Given the description of an element on the screen output the (x, y) to click on. 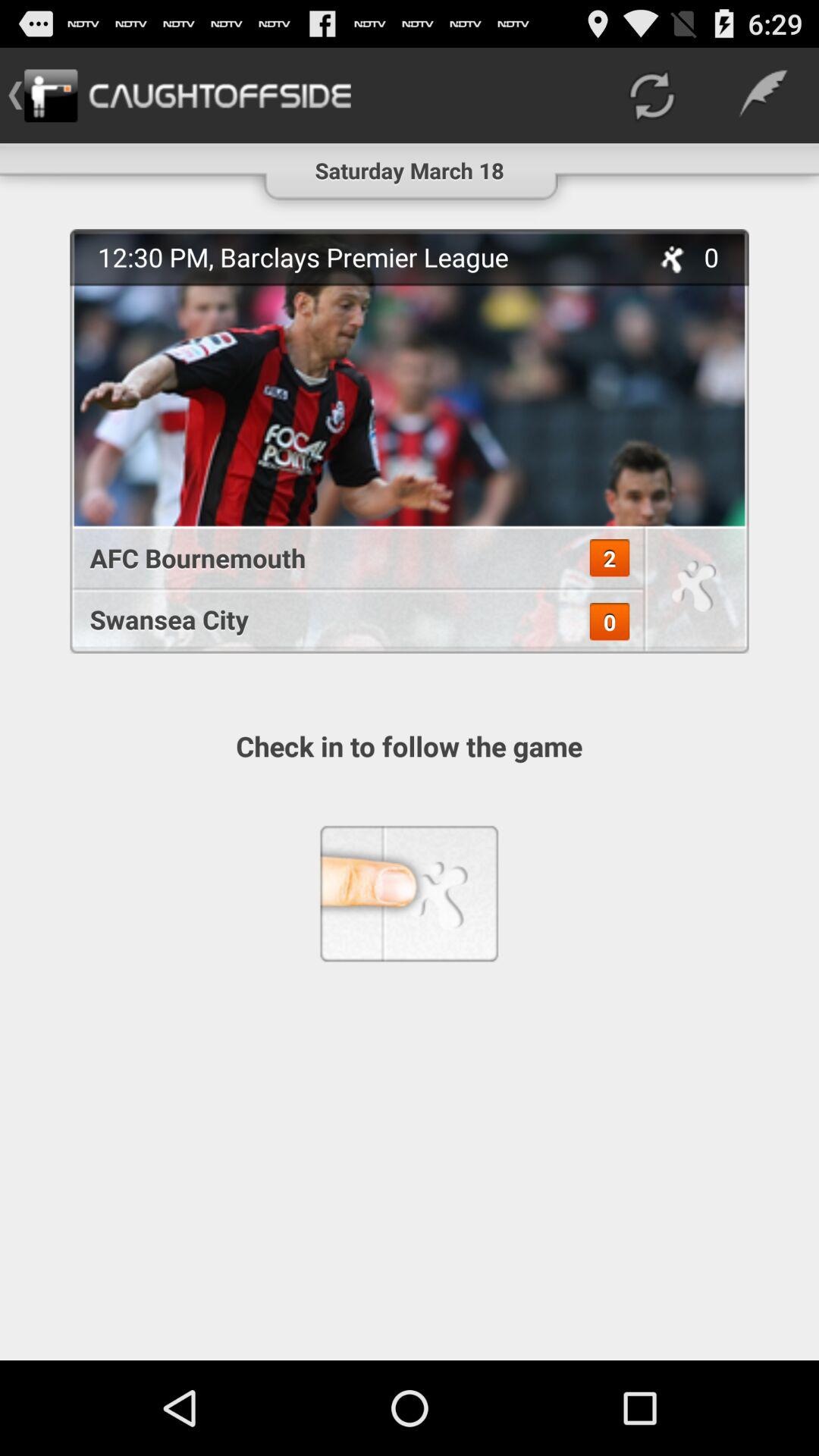
choose app to the right of the saturday march 18 item (651, 95)
